Given the description of an element on the screen output the (x, y) to click on. 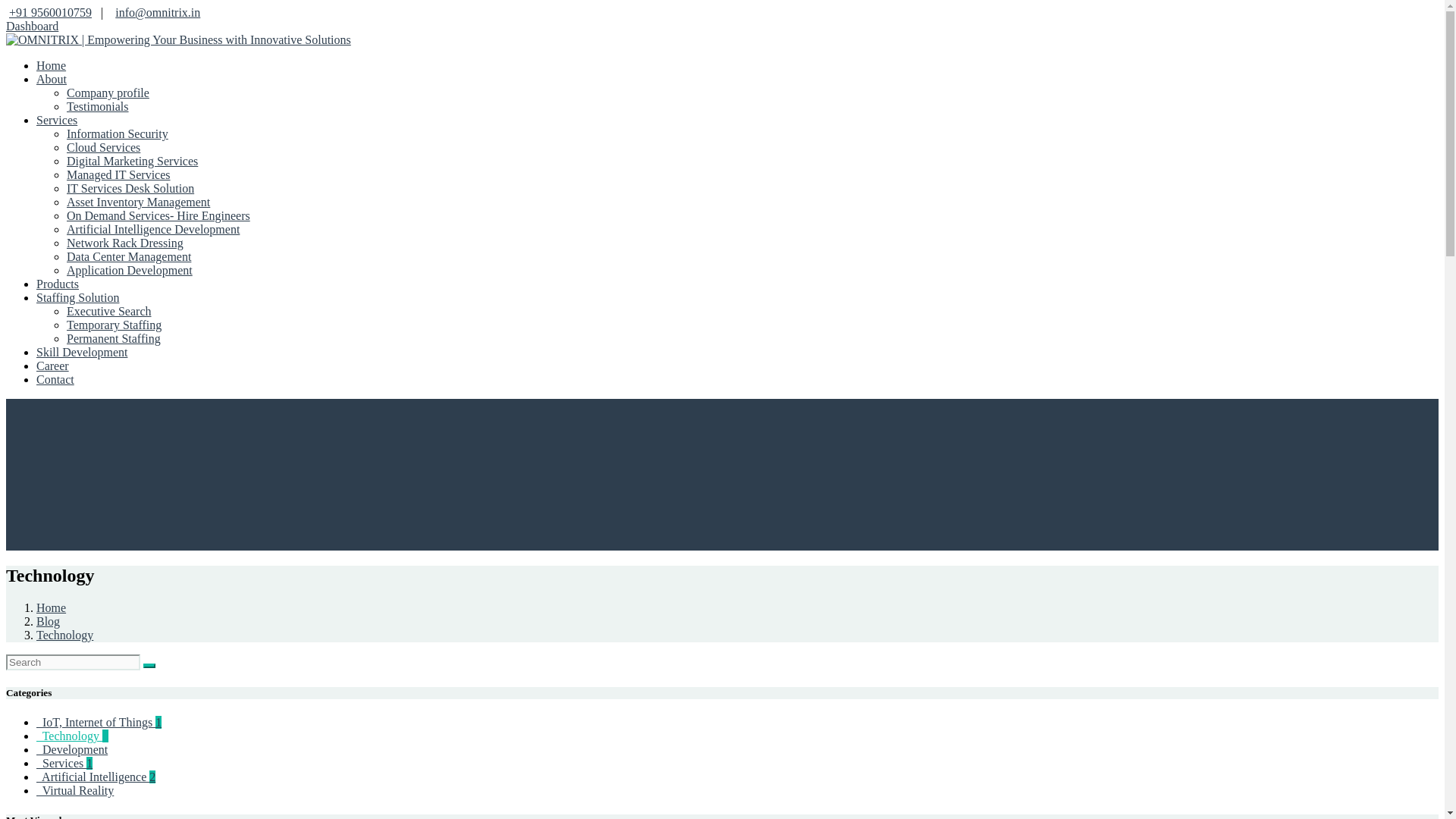
Skill Development (82, 351)
  Artificial Intelligence 2 (95, 776)
IT Services Desk Solution (129, 187)
On Demand Services- Hire Engineers (158, 215)
  IoT, Internet of Things 1 (98, 721)
  Development (71, 748)
  Virtual Reality (74, 789)
Executive Search (108, 310)
Permanent Staffing (113, 338)
Testimonials (97, 106)
  Services 1 (64, 762)
Technology (64, 634)
Home (50, 65)
Data Center Management (128, 256)
Blog (47, 621)
